Given the description of an element on the screen output the (x, y) to click on. 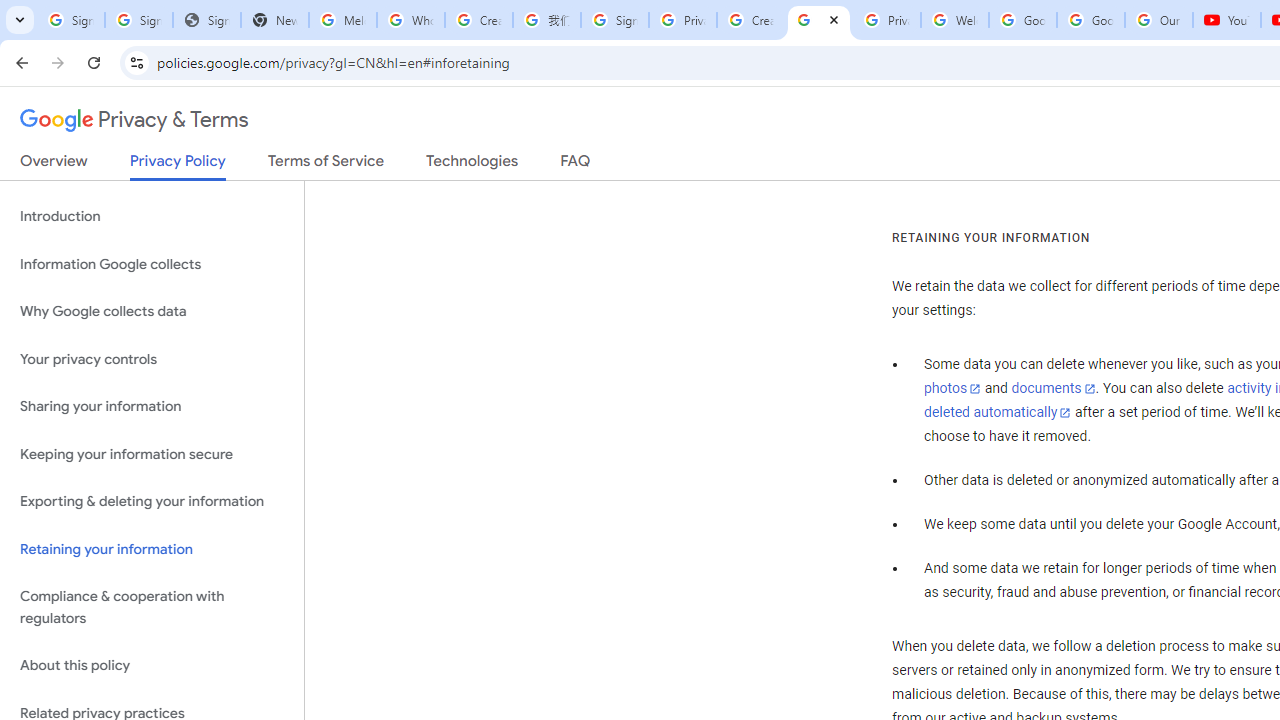
Who is my administrator? - Google Account Help (411, 20)
New Tab (274, 20)
Sign in - Google Accounts (614, 20)
YouTube (1226, 20)
